Given the description of an element on the screen output the (x, y) to click on. 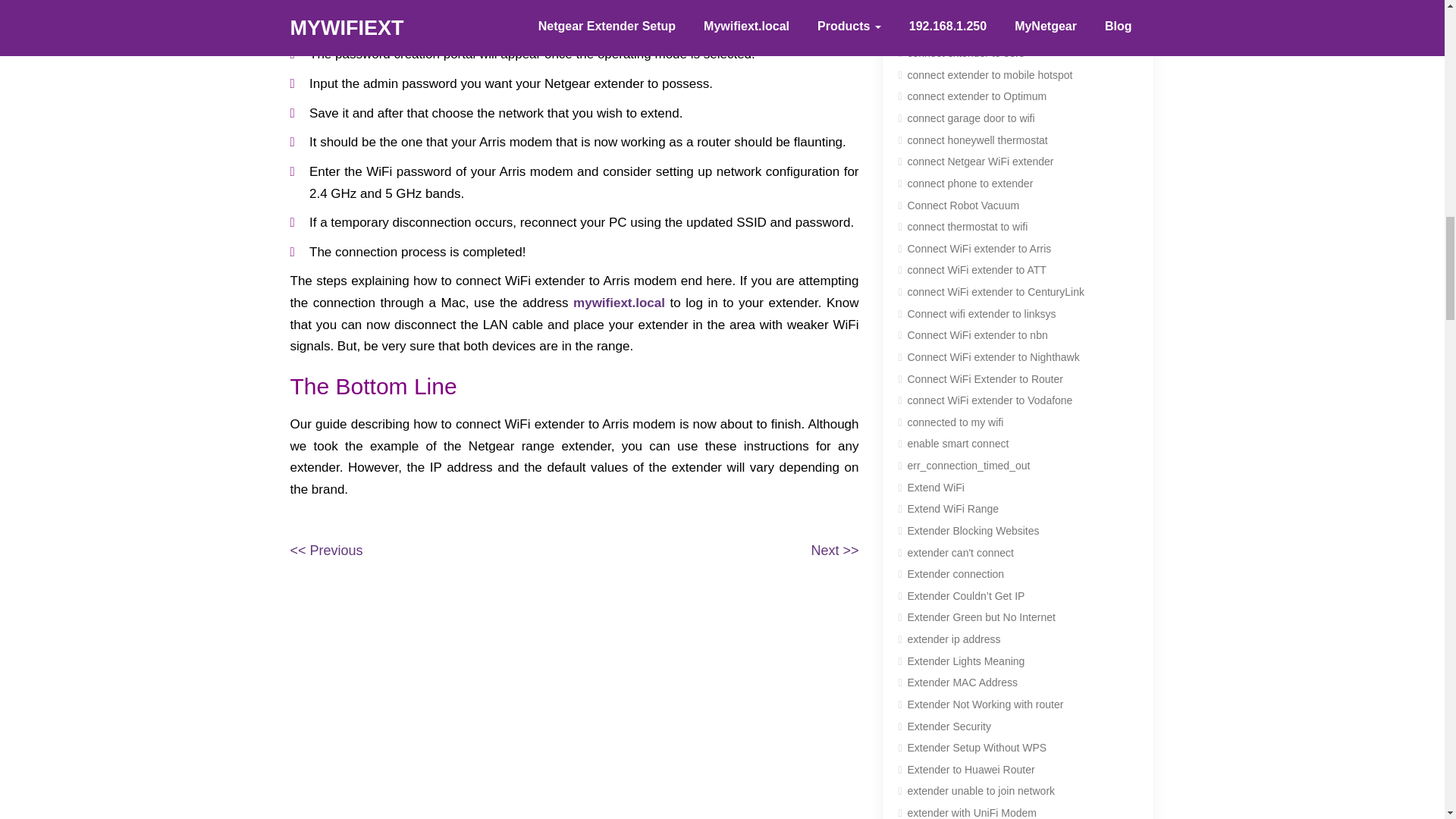
Connect Extender to Belkin Tag (972, 32)
Connect Amazon Echo Tag (961, 10)
connect extender to eero Tag (966, 54)
